Given the description of an element on the screen output the (x, y) to click on. 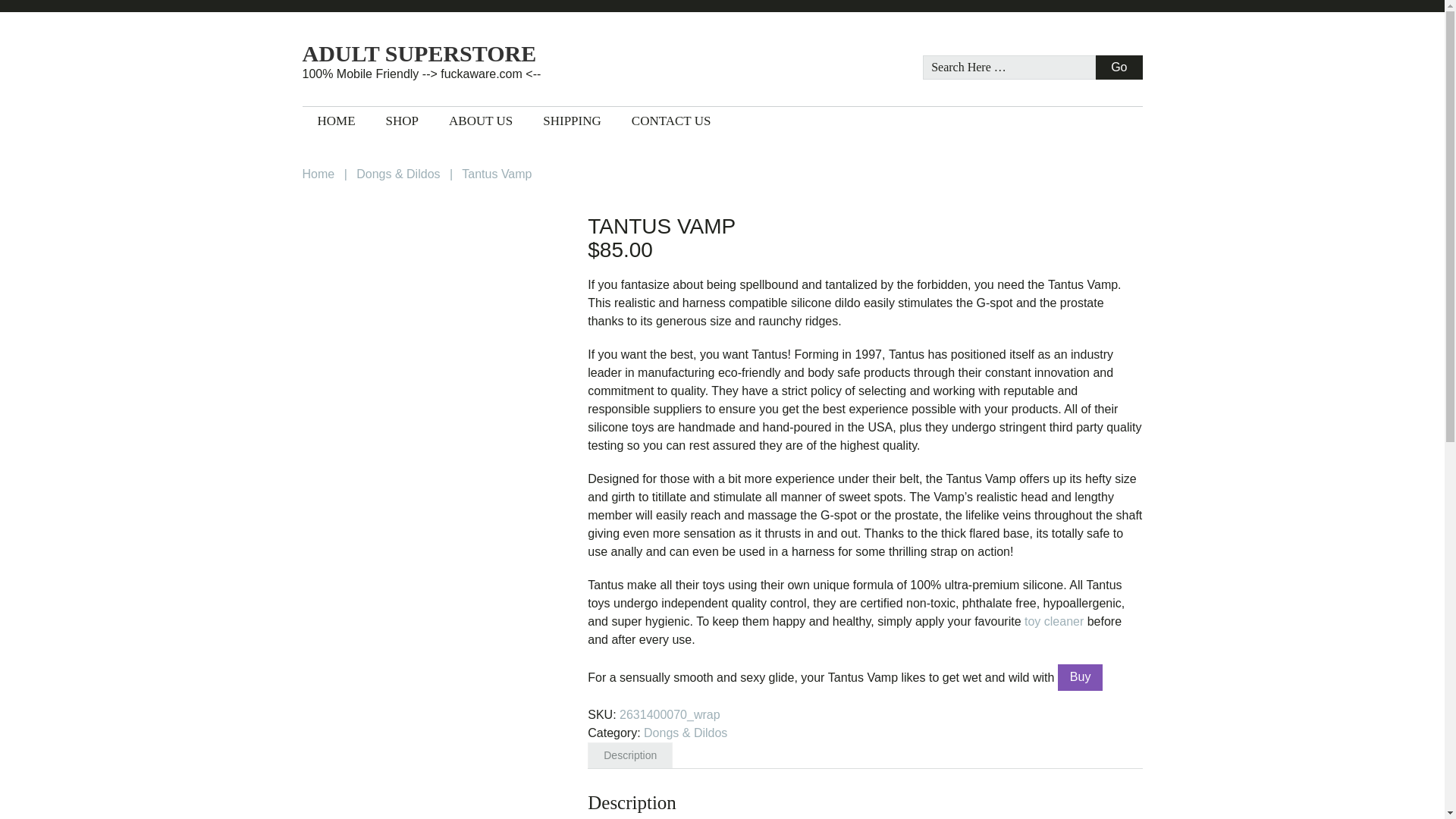
Home (317, 173)
ABOUT US (480, 121)
Go (1118, 67)
Buy (1080, 677)
toy cleaner (1054, 621)
ADULT SUPERSTORE (453, 53)
SHOP (402, 121)
SHIPPING (571, 121)
Go (1118, 67)
